Given the description of an element on the screen output the (x, y) to click on. 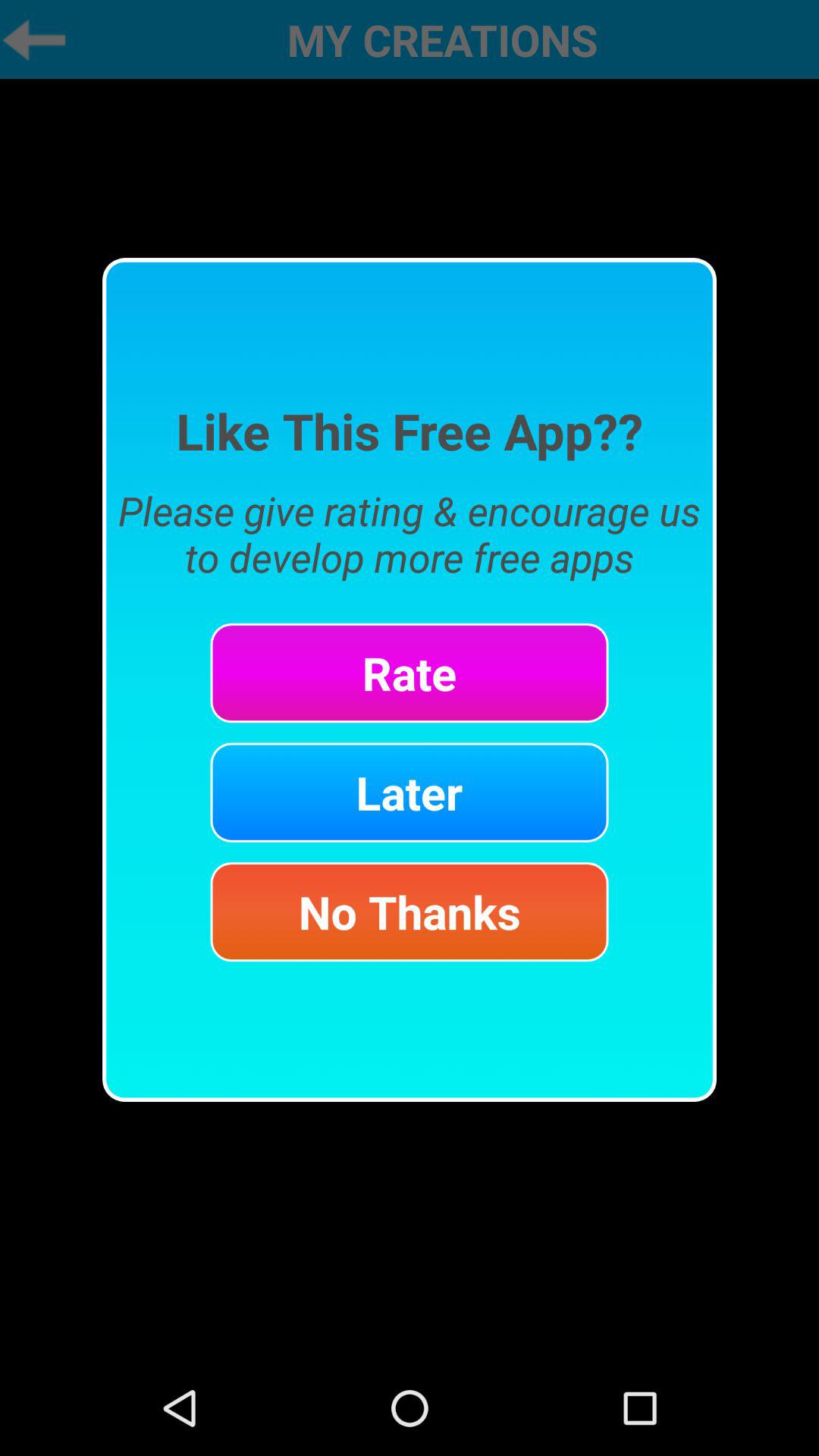
choose the icon below the later icon (409, 911)
